Given the description of an element on the screen output the (x, y) to click on. 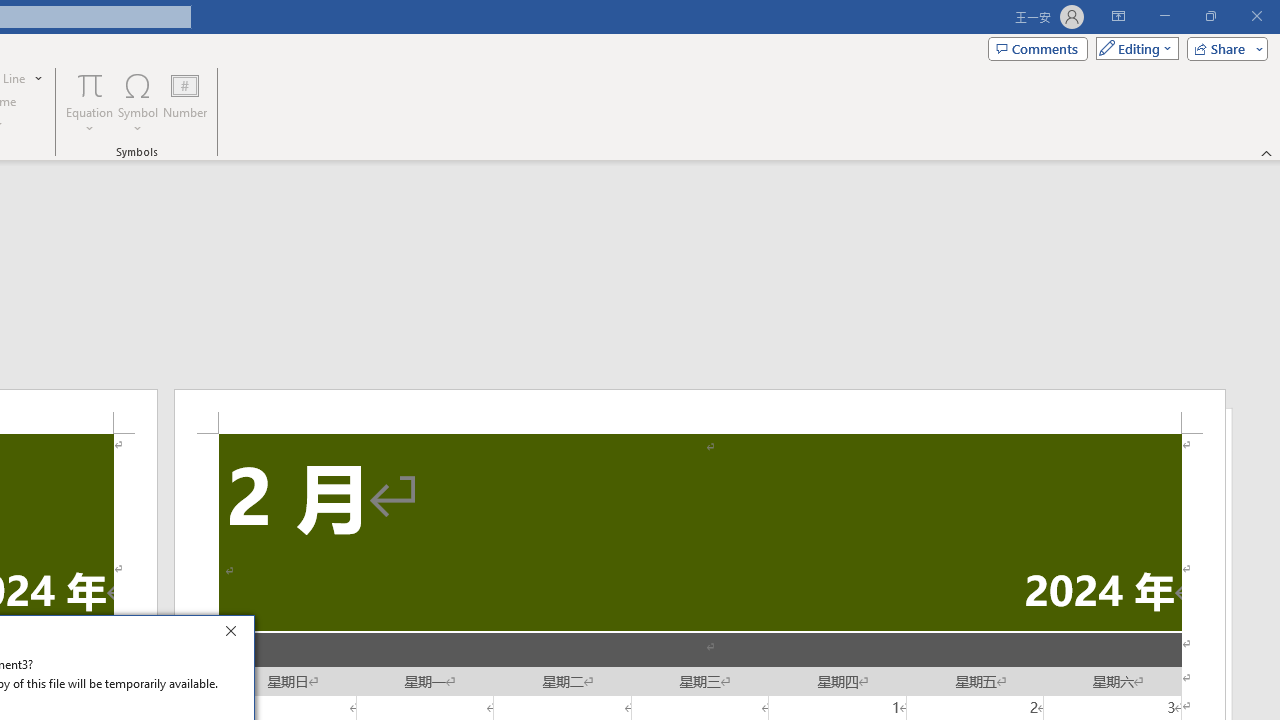
Header -Section 2- (700, 411)
Number... (185, 102)
Symbol (138, 102)
